Given the description of an element on the screen output the (x, y) to click on. 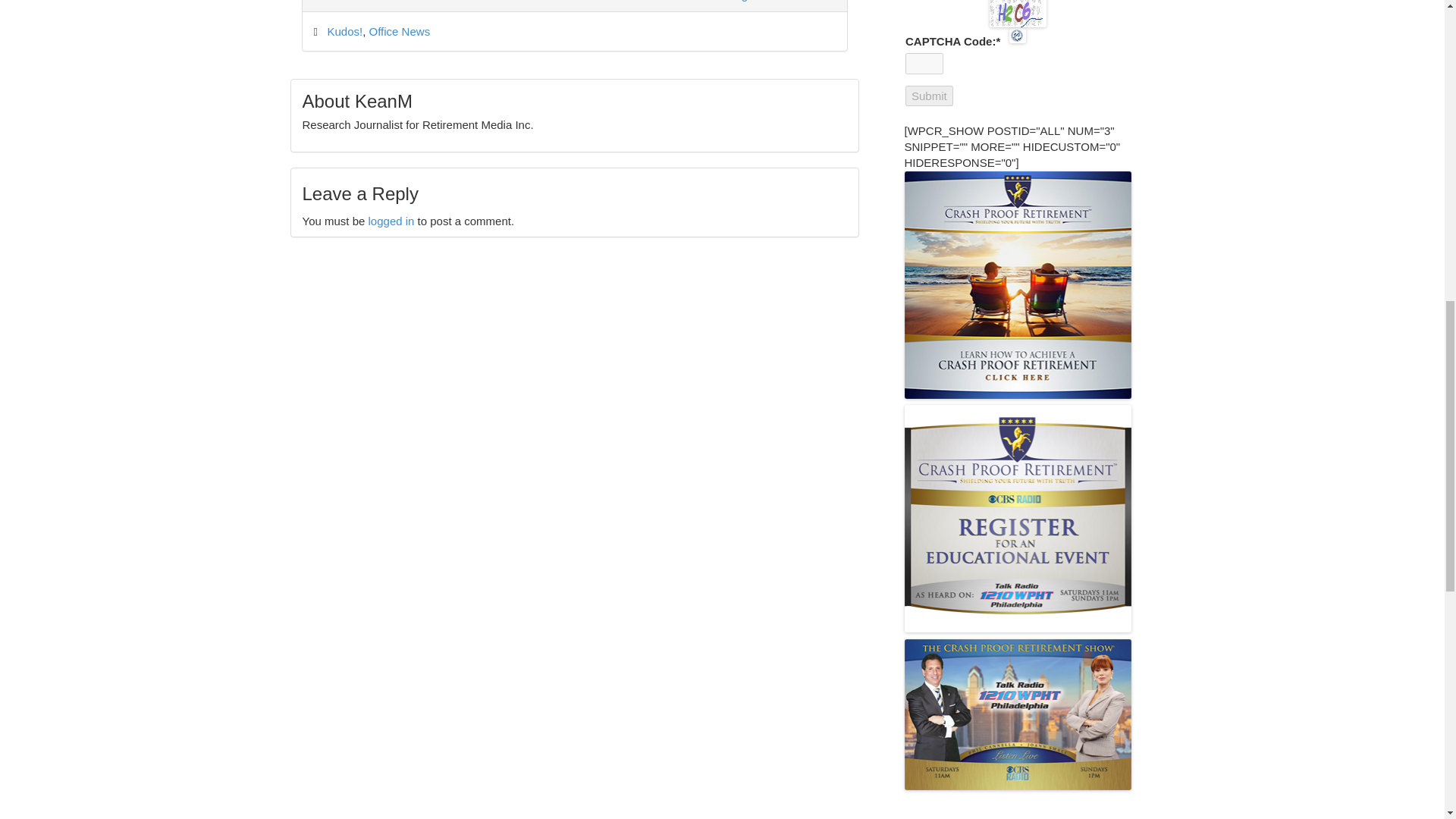
logged in (391, 220)
Refresh Image (1017, 34)
Submit (929, 95)
Kudos! (344, 31)
CAPTCHA Image (1018, 13)
Submit (929, 95)
Office News (399, 31)
